Given the description of an element on the screen output the (x, y) to click on. 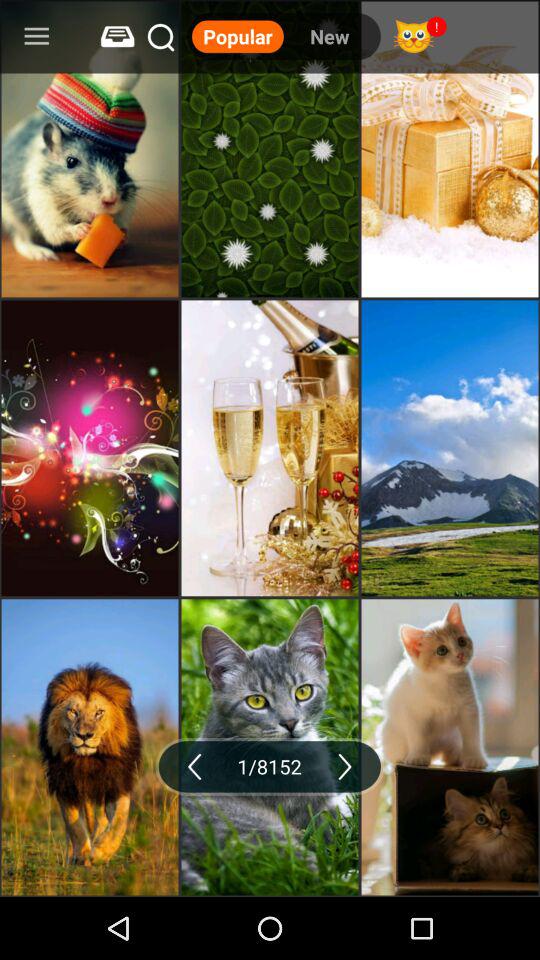
click item to the right of the popular (329, 36)
